Given the description of an element on the screen output the (x, y) to click on. 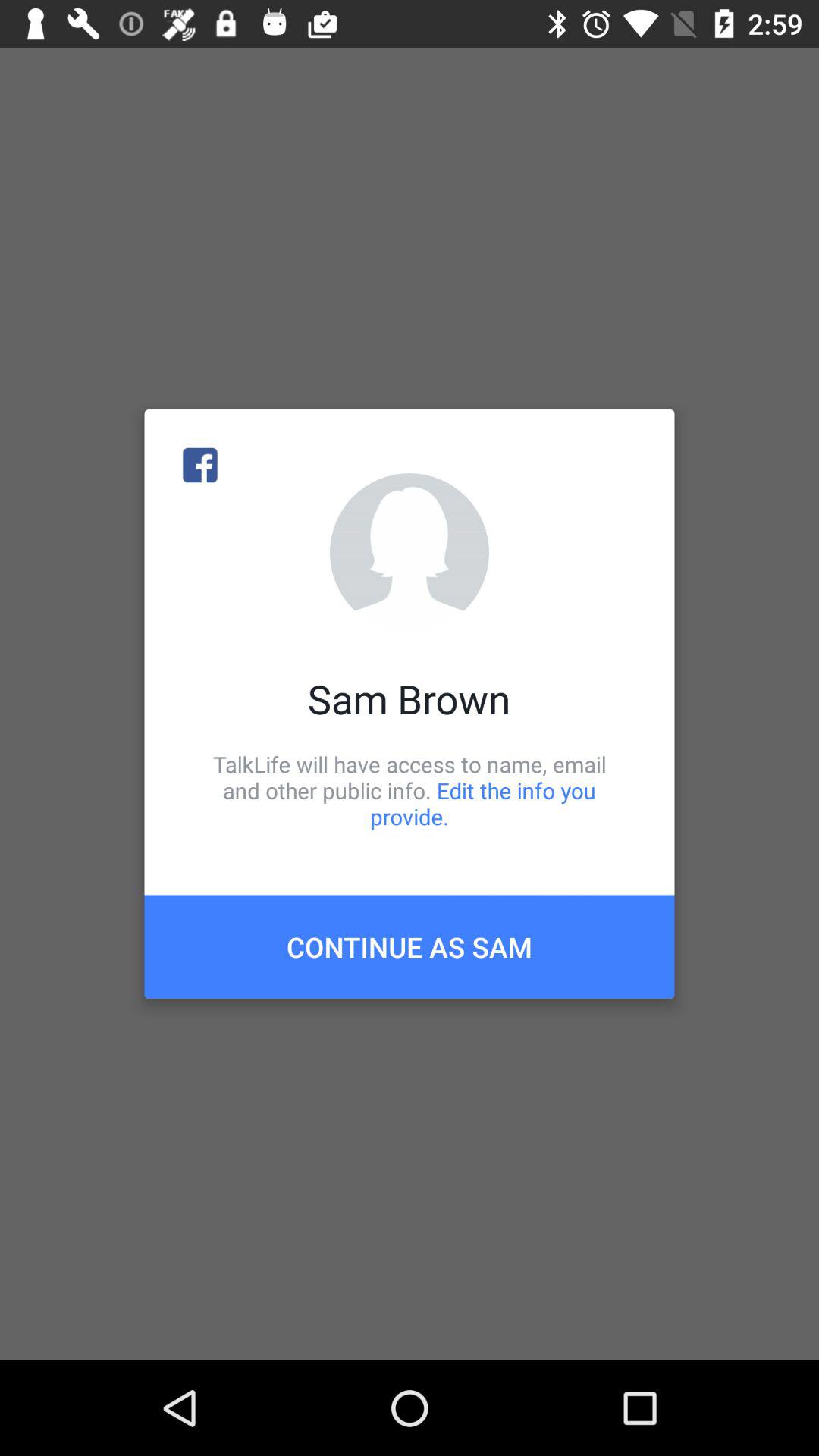
turn off icon above continue as sam (409, 790)
